Given the description of an element on the screen output the (x, y) to click on. 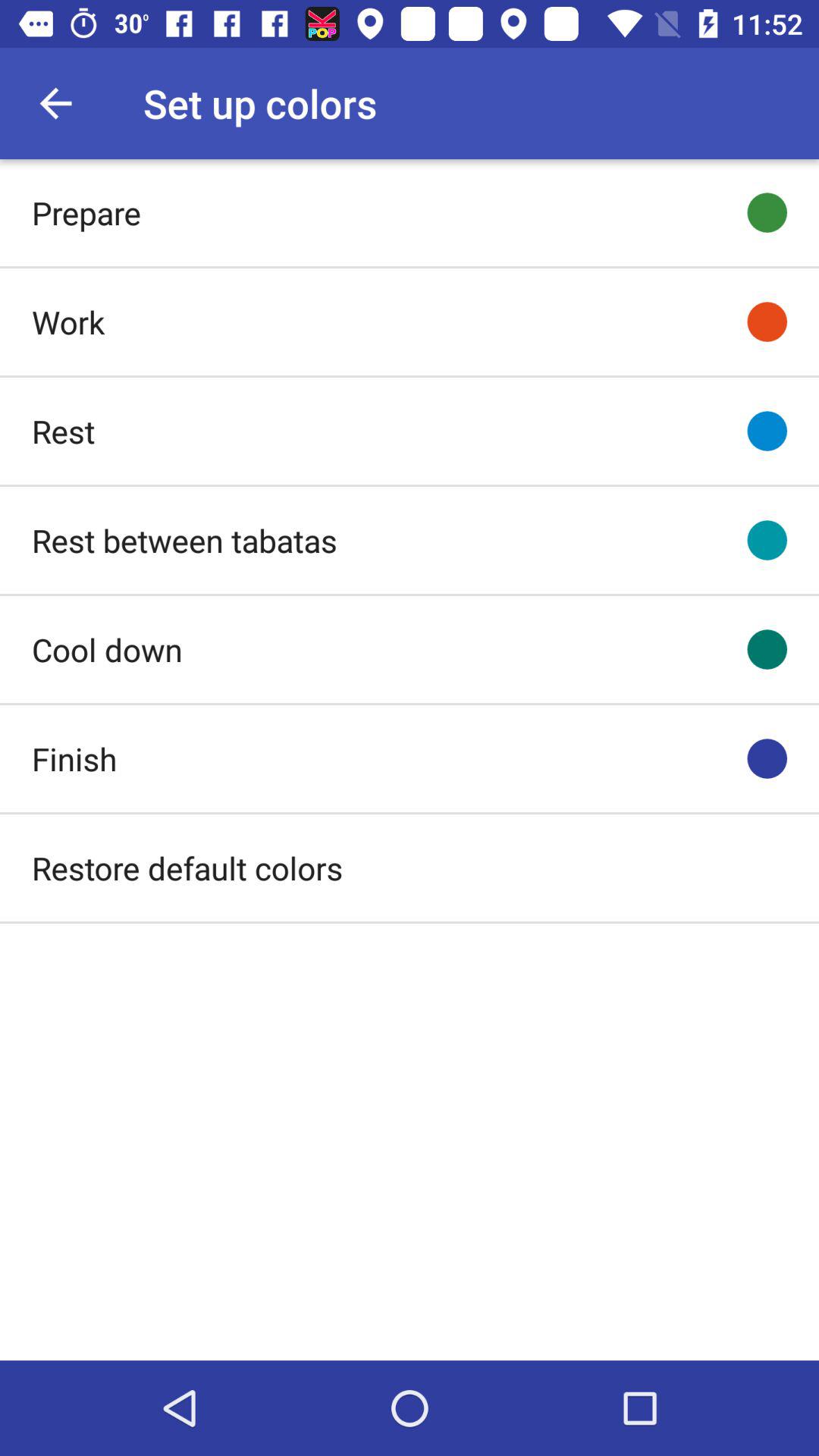
click the item above prepare item (55, 103)
